Given the description of an element on the screen output the (x, y) to click on. 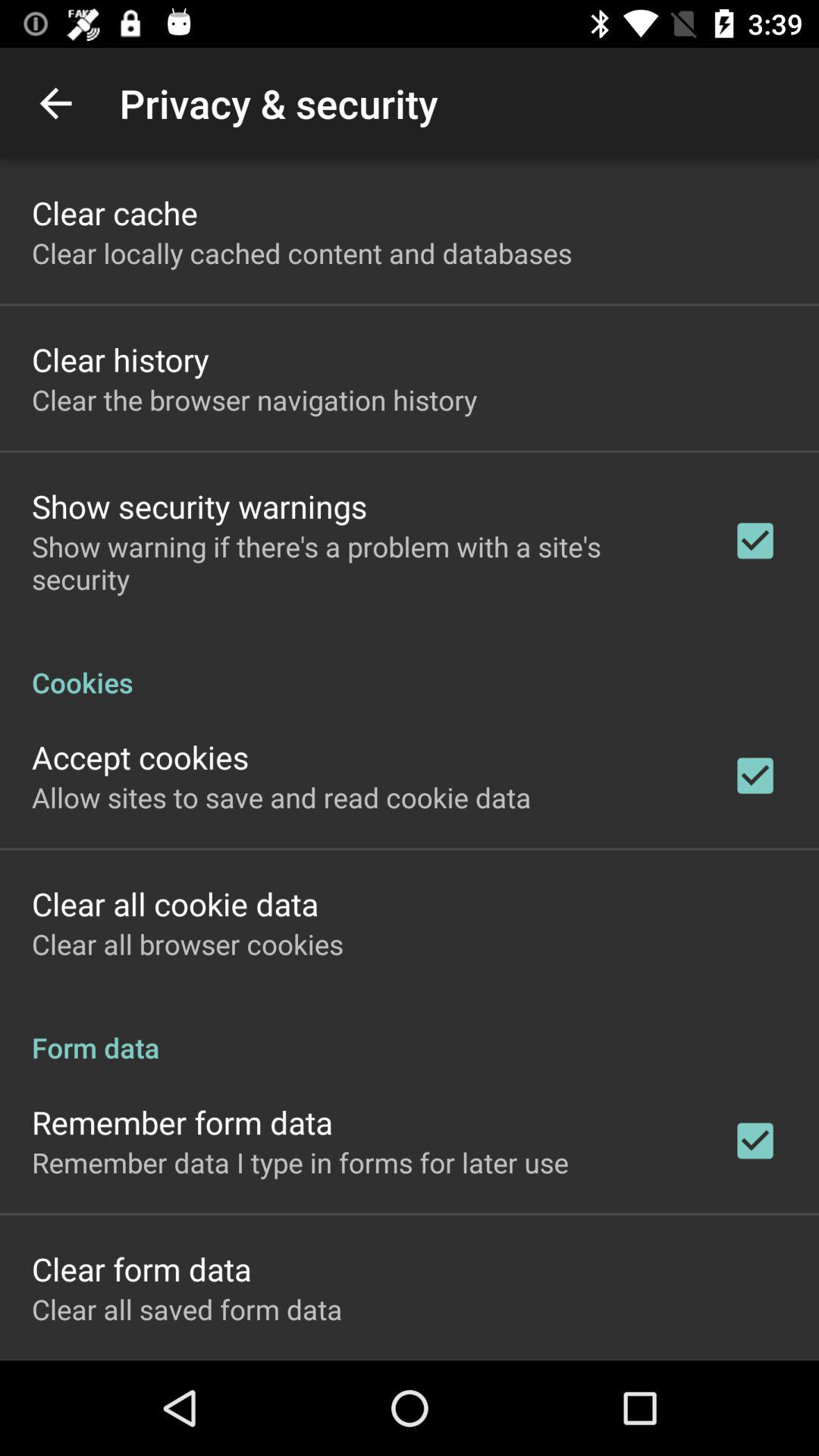
tap the accept cookies icon (140, 756)
